Given the description of an element on the screen output the (x, y) to click on. 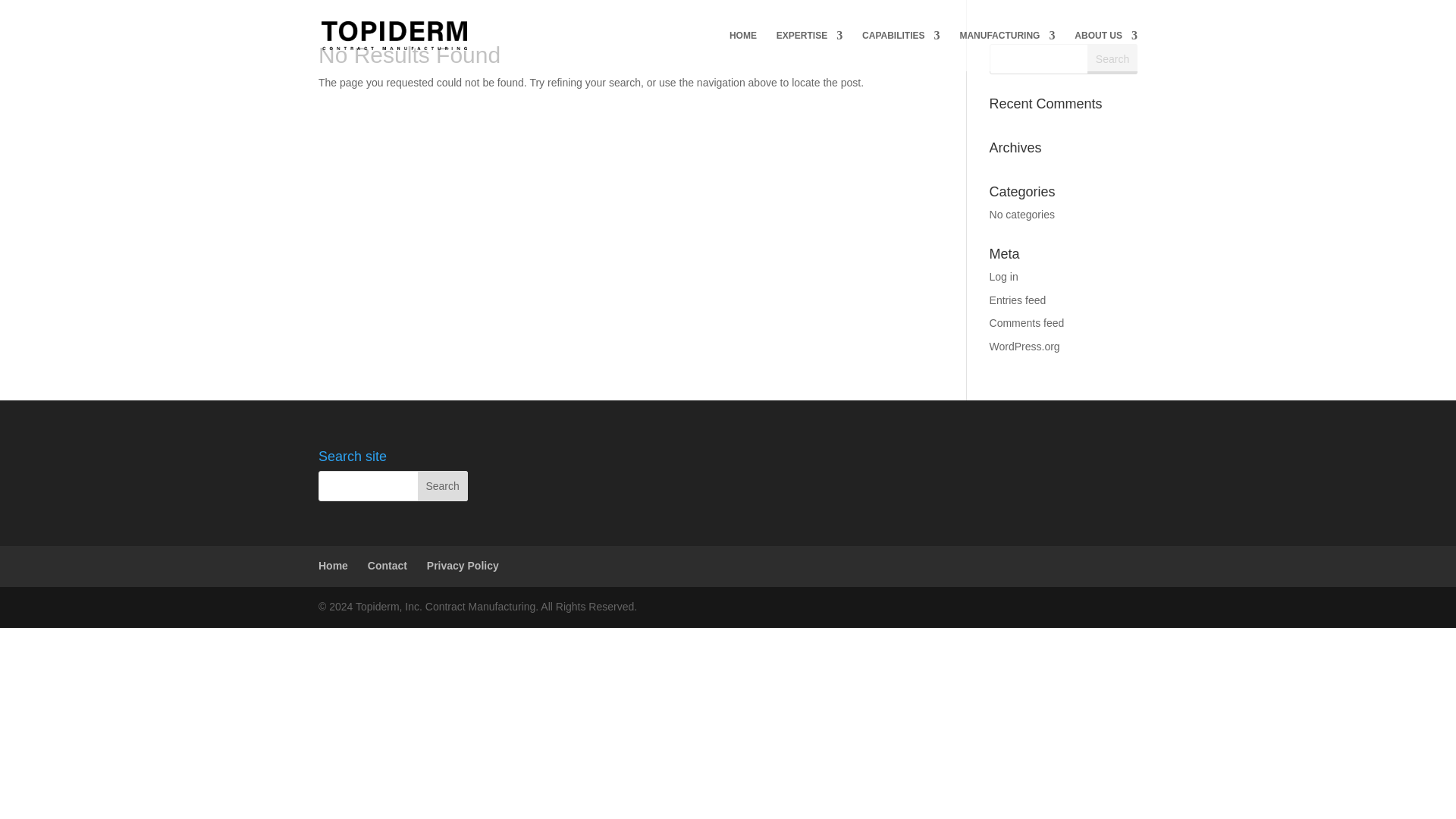
Search (442, 485)
WordPress.org (1024, 346)
Comments feed (1027, 322)
Privacy Policy (462, 565)
MANUFACTURING (1006, 50)
Search (1112, 59)
ABOUT US (1105, 50)
Home (332, 565)
Entries feed (1018, 300)
Contact (387, 565)
